Given the description of an element on the screen output the (x, y) to click on. 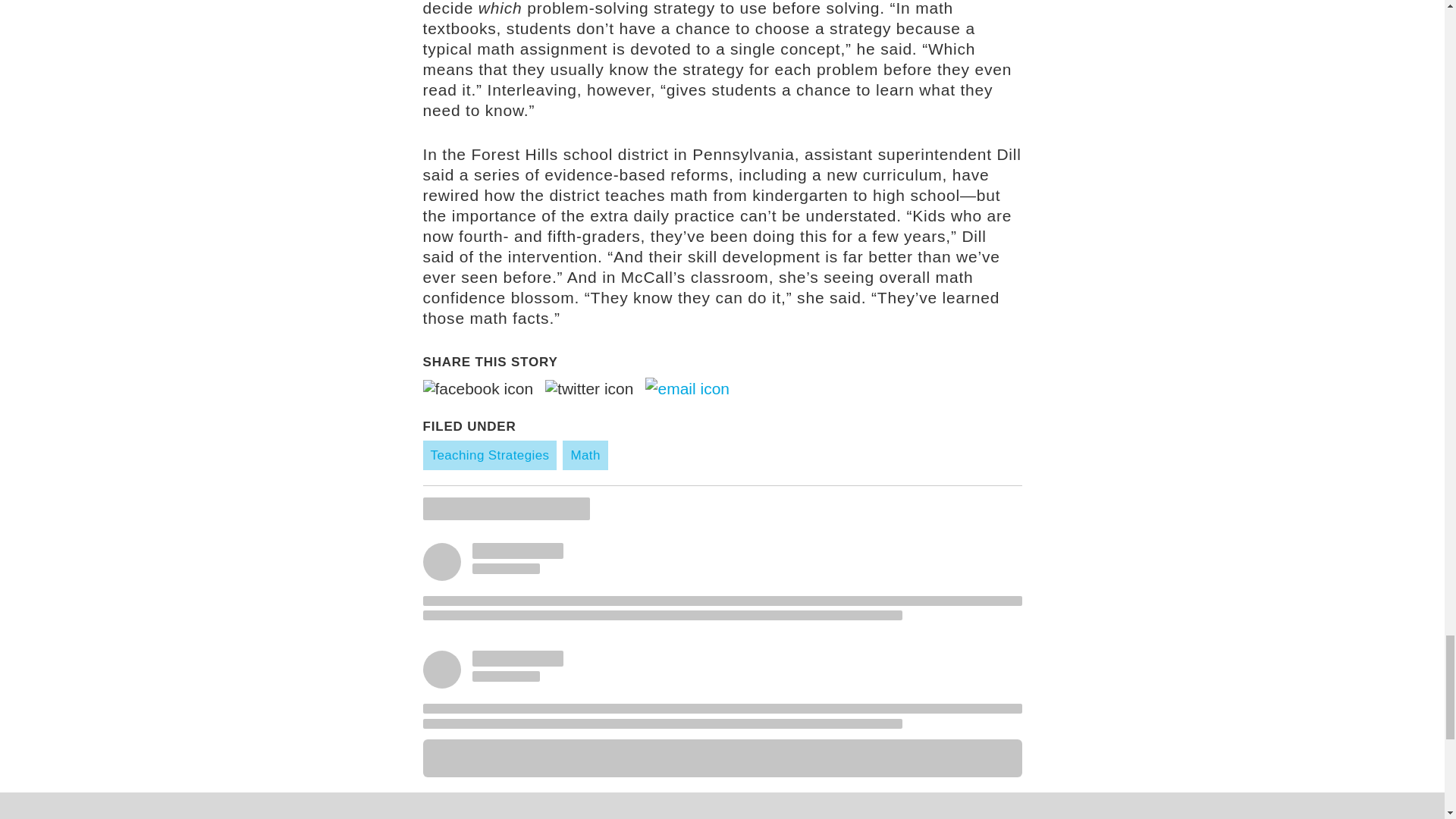
Teaching Strategies (490, 455)
